Given the description of an element on the screen output the (x, y) to click on. 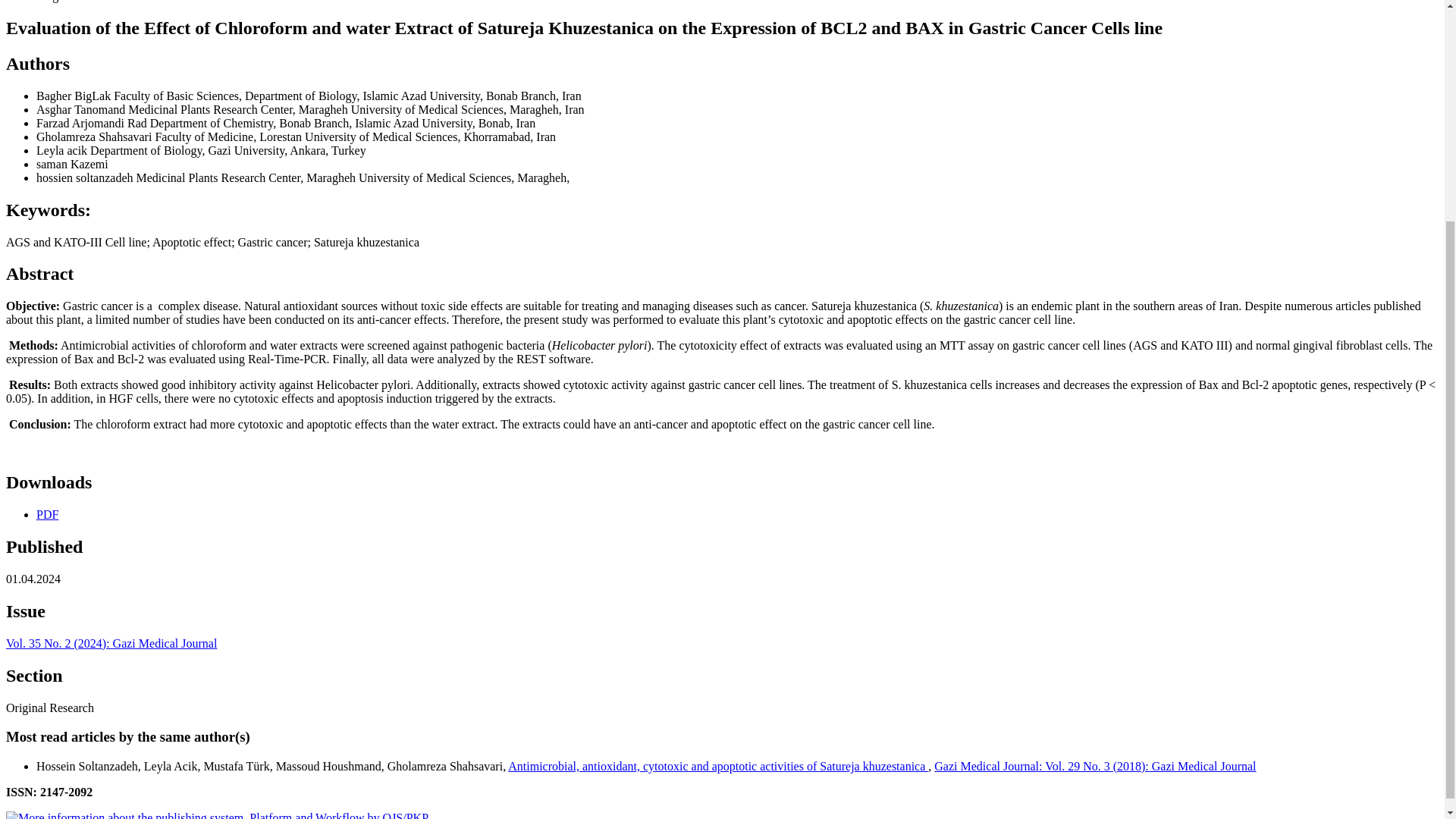
PDF (47, 513)
